Given the description of an element on the screen output the (x, y) to click on. 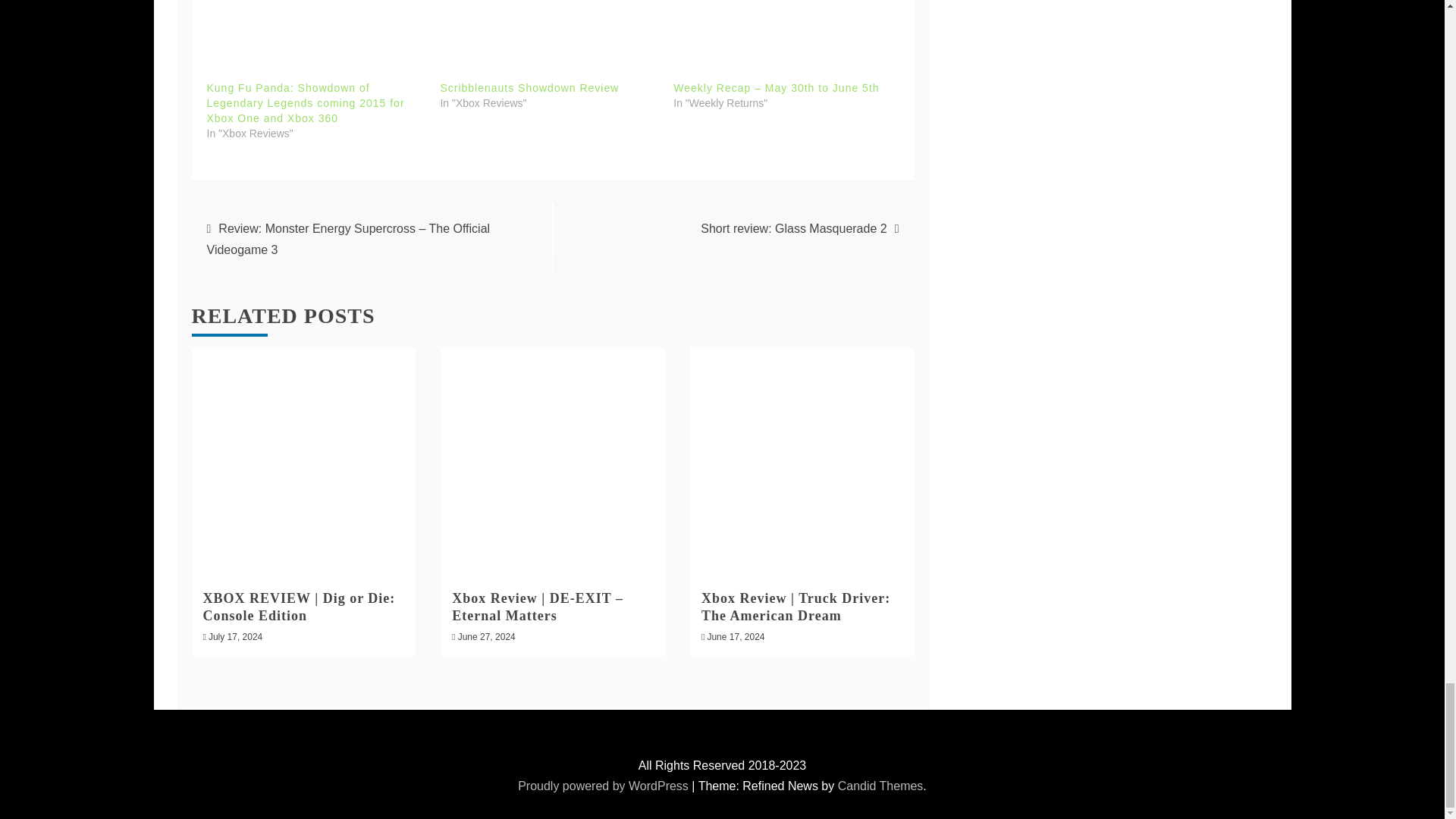
July 17, 2024 (235, 636)
June 27, 2024 (486, 636)
Scribblenauts Showdown Review (528, 87)
Scribblenauts Showdown Review (548, 31)
Short review: Glass Masquerade 2 (793, 228)
Scribblenauts Showdown Review (528, 87)
